Given the description of an element on the screen output the (x, y) to click on. 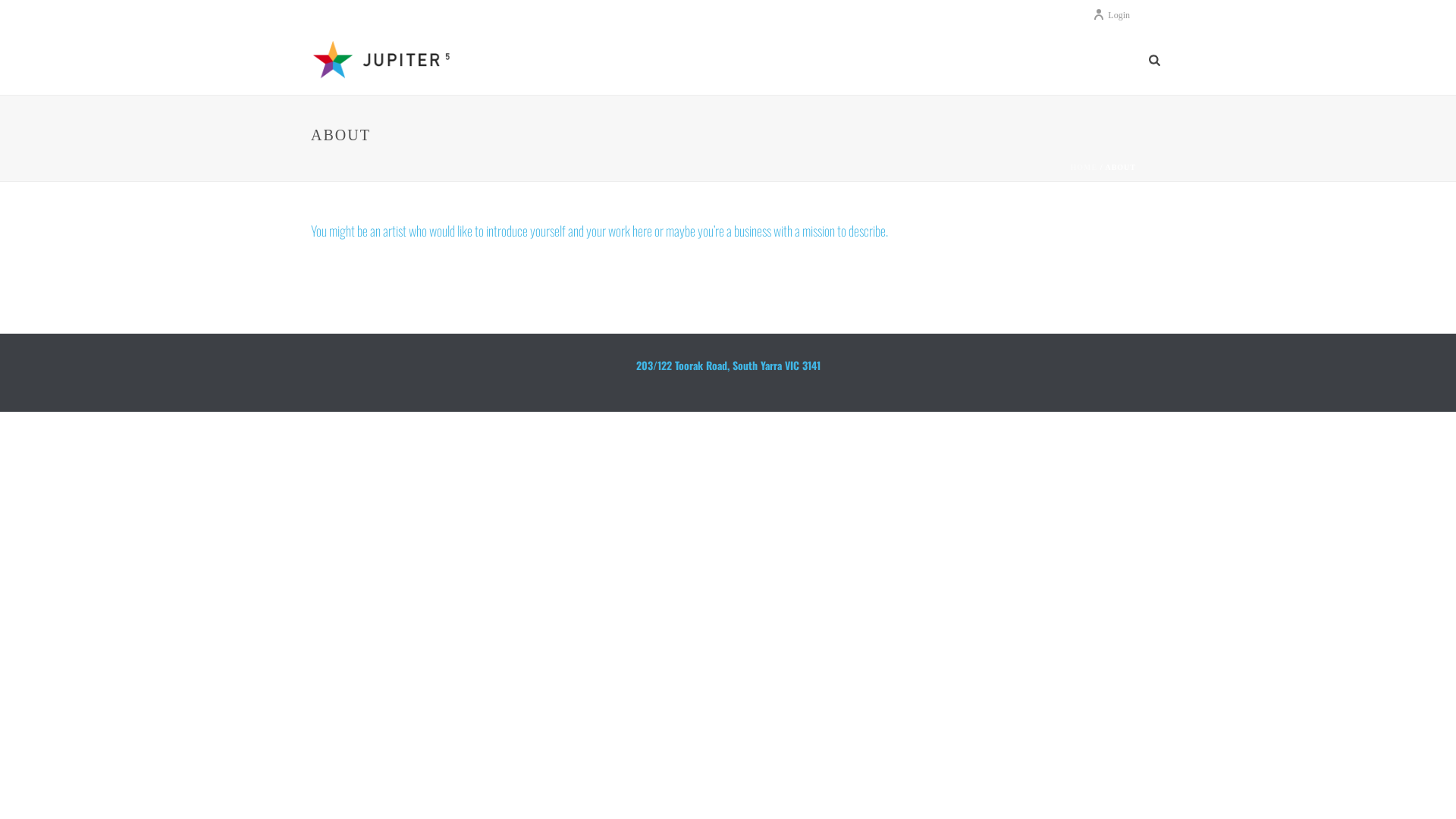
Digital and Marketing Recruitment Element type: hover (385, 60)
Login Element type: text (1110, 14)
HOME Element type: text (1084, 167)
